Given the description of an element on the screen output the (x, y) to click on. 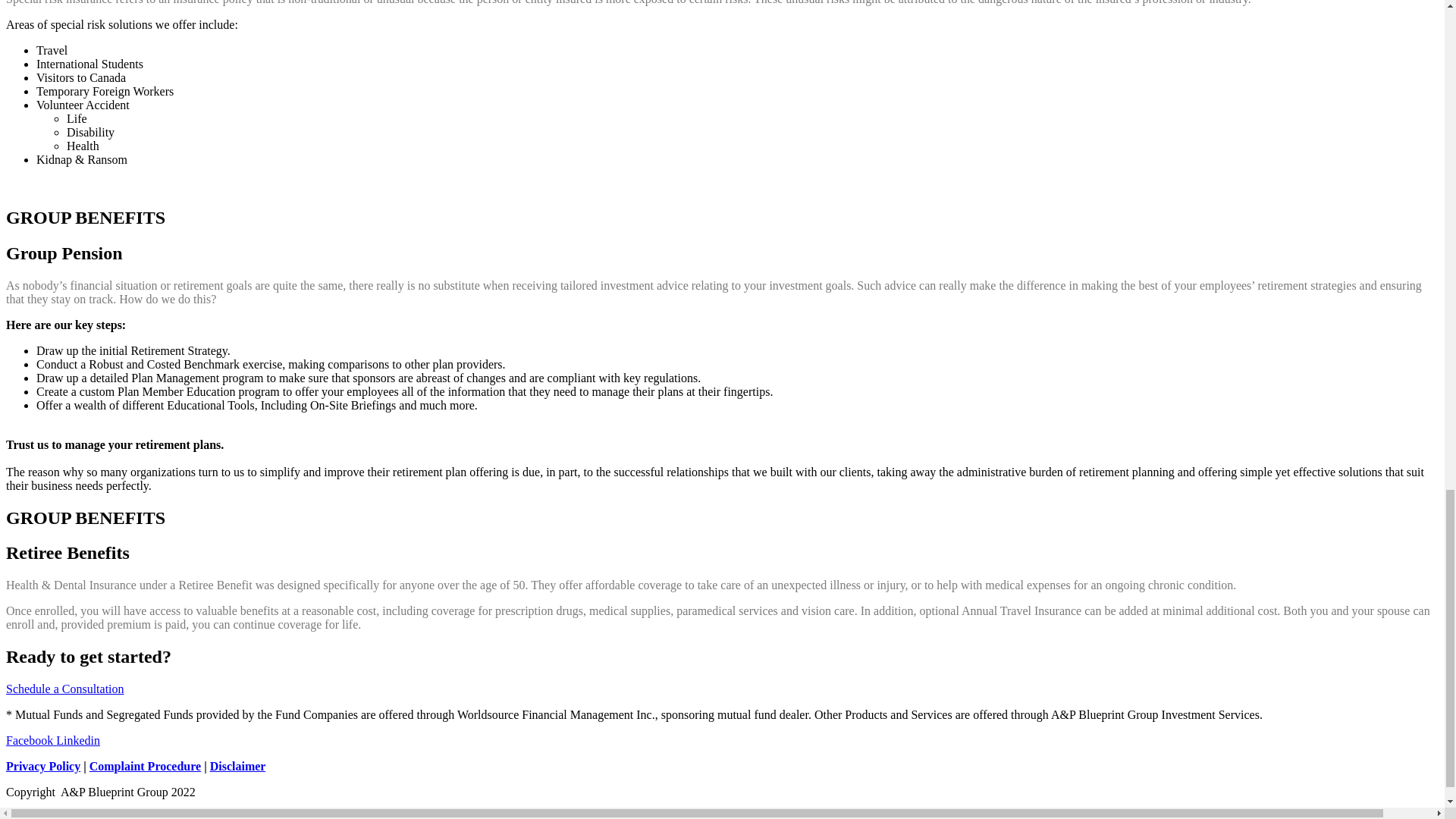
Disclaimer (236, 766)
Privacy Policy (42, 766)
Complaint Procedure (144, 766)
Schedule a Consultation (64, 688)
Linkedin (78, 739)
Facebook (30, 739)
